Given the description of an element on the screen output the (x, y) to click on. 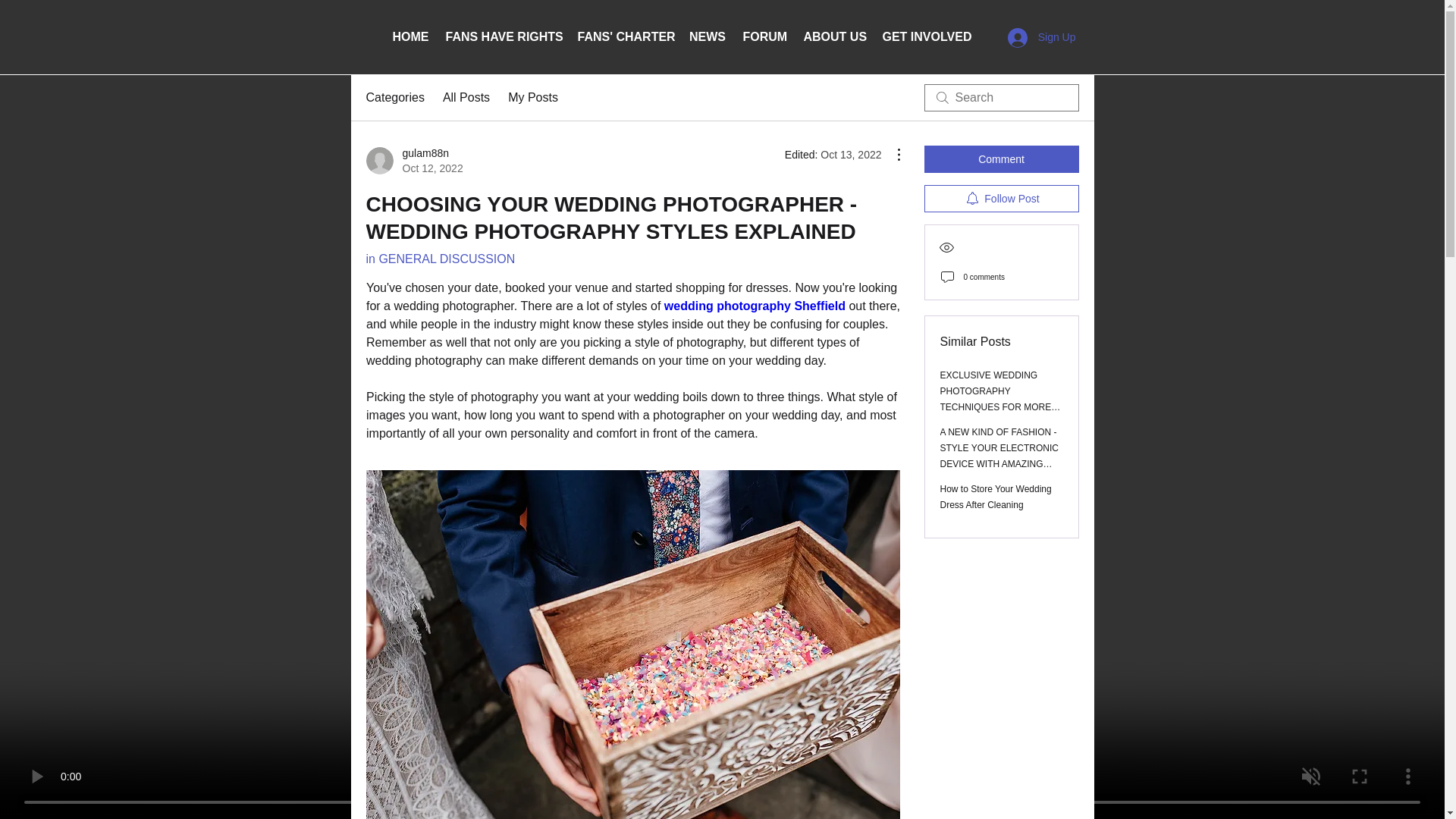
ABOUT US (833, 36)
NEWS (708, 36)
FANS' CHARTER (414, 160)
wedding photography Sheffield (624, 36)
All Posts (753, 305)
GET INVOLVED (465, 97)
FANS HAVE RIGHTS (925, 36)
Comment (502, 36)
Follow Post (1000, 158)
FORUM (1000, 198)
Sign Up (763, 36)
How to Store Your Wedding Dress After Cleaning (1041, 36)
My Posts (995, 497)
